Given the description of an element on the screen output the (x, y) to click on. 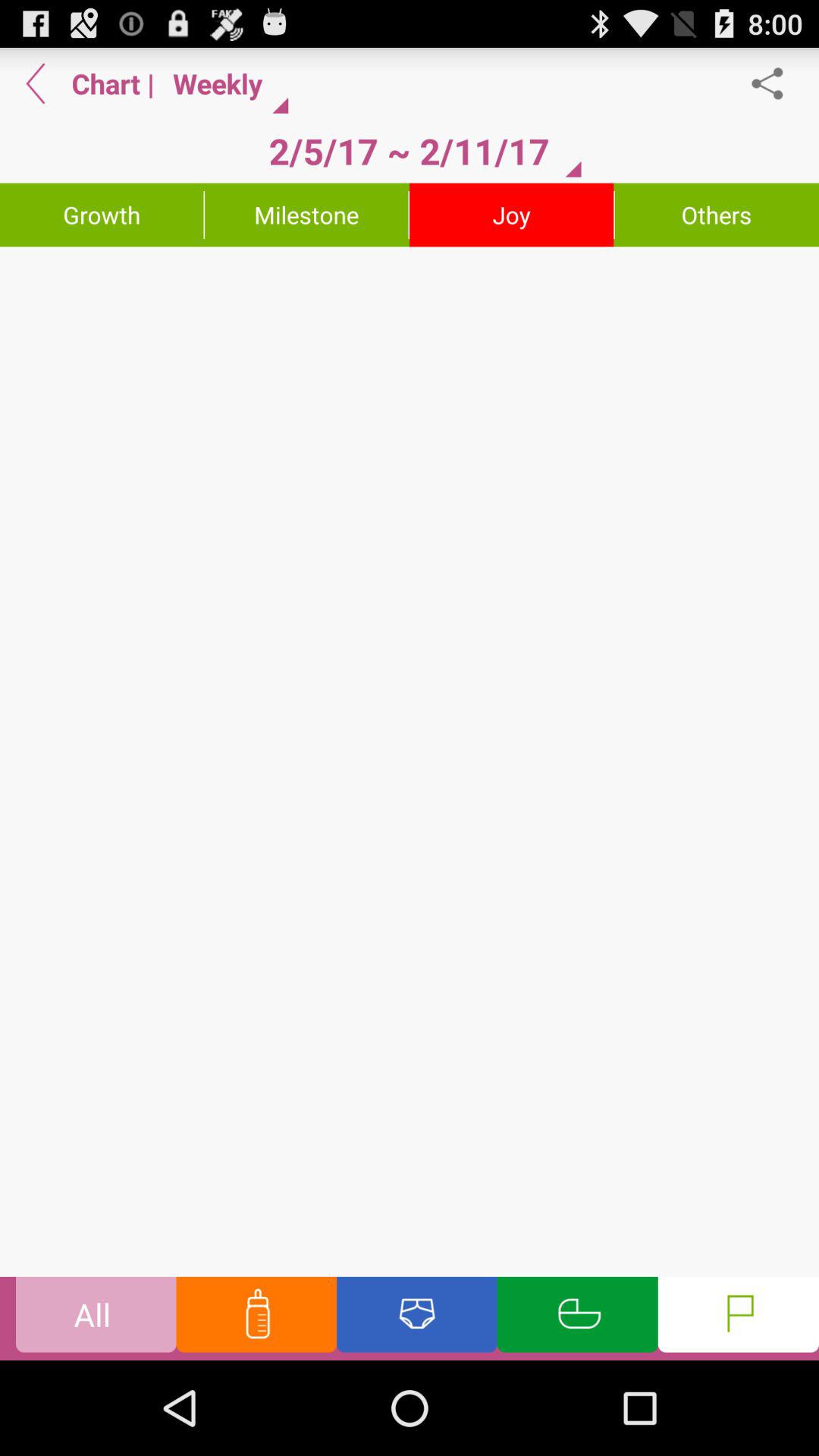
select icon next to the chart icon (35, 83)
